Given the description of an element on the screen output the (x, y) to click on. 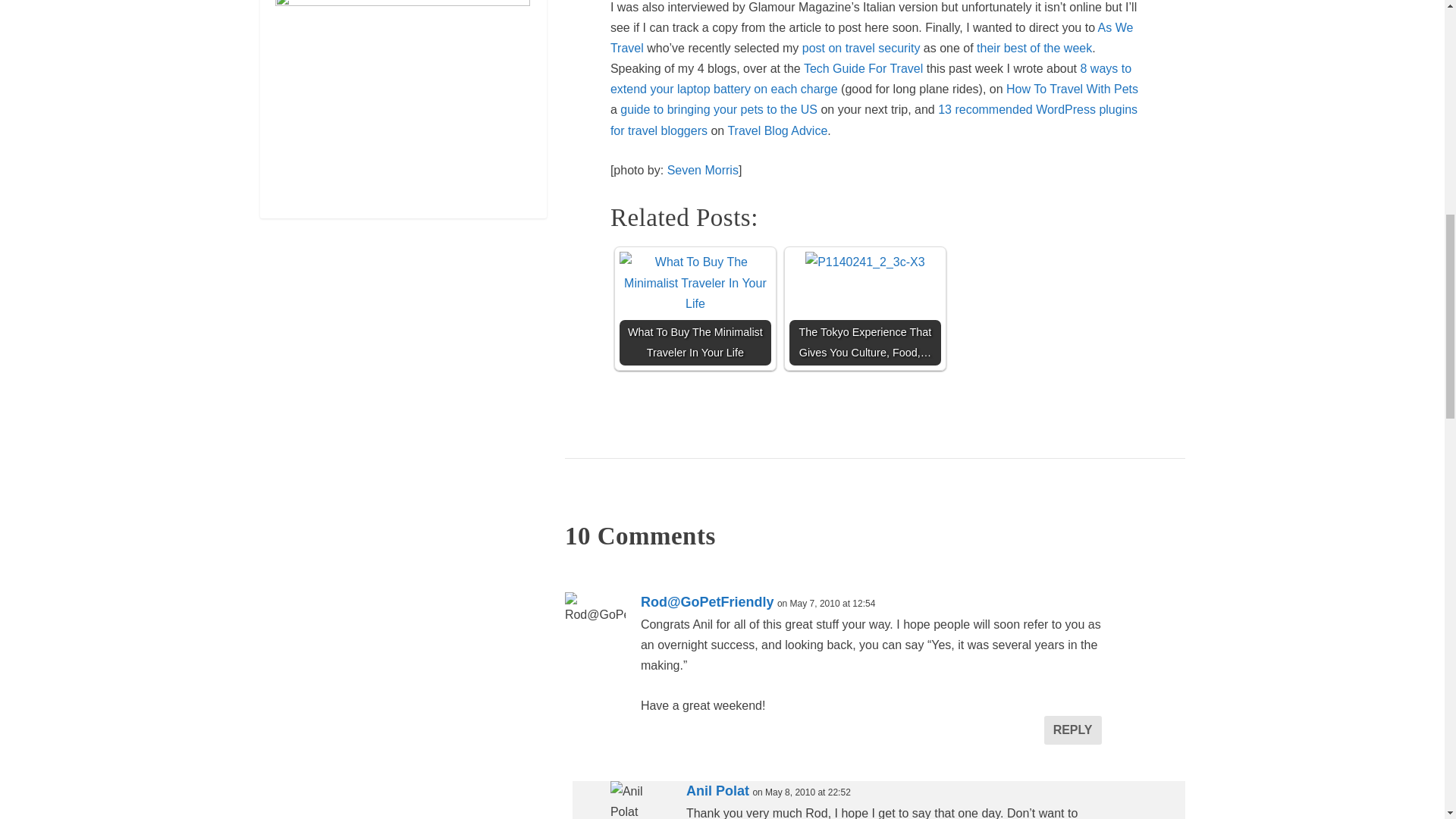
What To Buy The Minimalist Traveler In Your Life (695, 308)
Tech Guide For Travel (863, 68)
post on travel security (861, 47)
What To Buy The Minimalist Traveler In Your Life (695, 282)
their best of the week (1034, 47)
Travel Blog Advice (776, 130)
8 ways to extend your laptop battery on each charge (870, 78)
As We Travel (872, 37)
How To Travel With Pets (1072, 88)
13 recommended WordPress plugins for travel bloggers (873, 119)
guide to bringing your pets to the US (718, 109)
Seven Morris (702, 169)
